Given the description of an element on the screen output the (x, y) to click on. 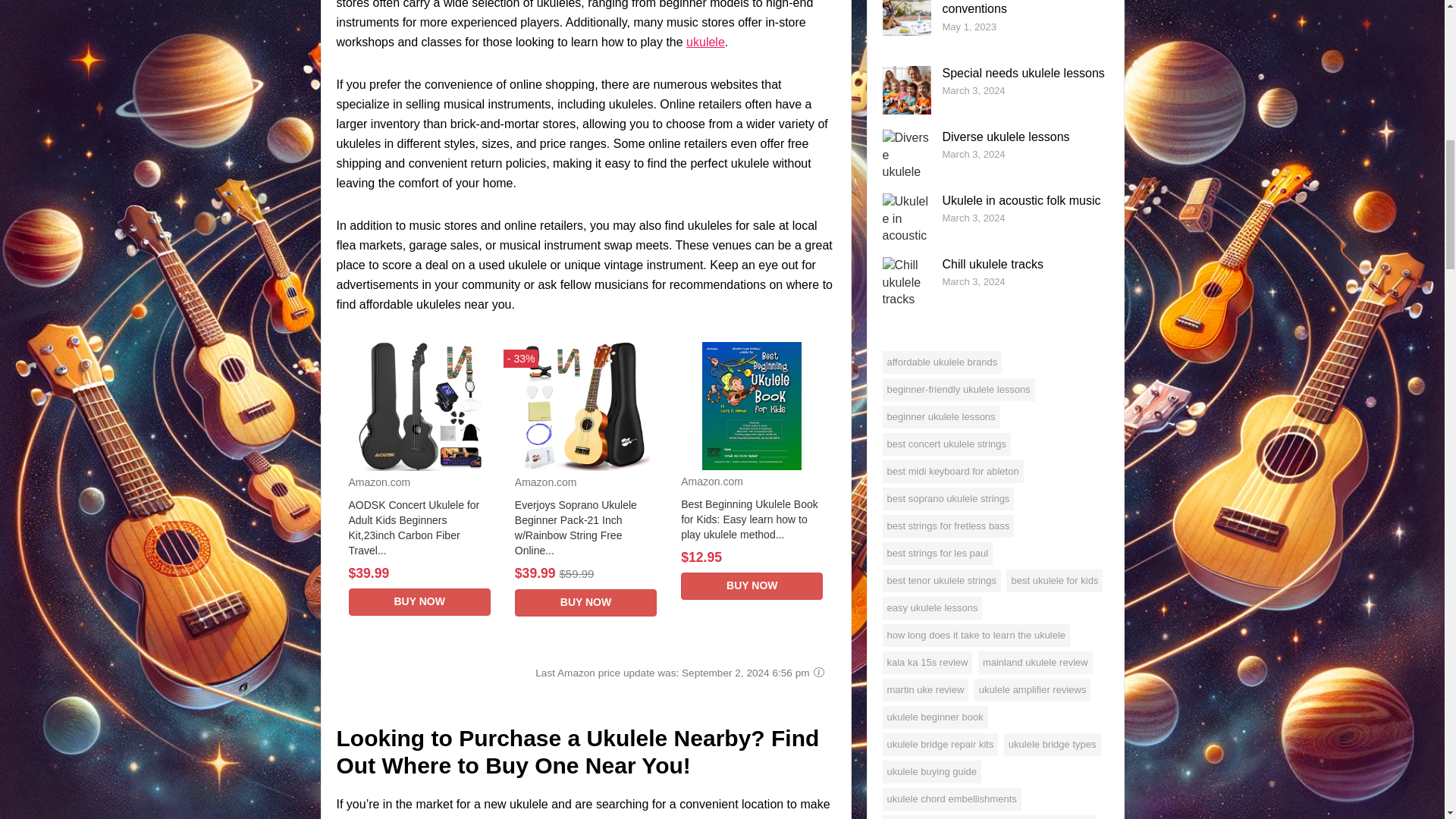
BUY NOW (585, 602)
BUY NOW (419, 601)
ukulele (705, 42)
Ukulele in India (705, 42)
